Given the description of an element on the screen output the (x, y) to click on. 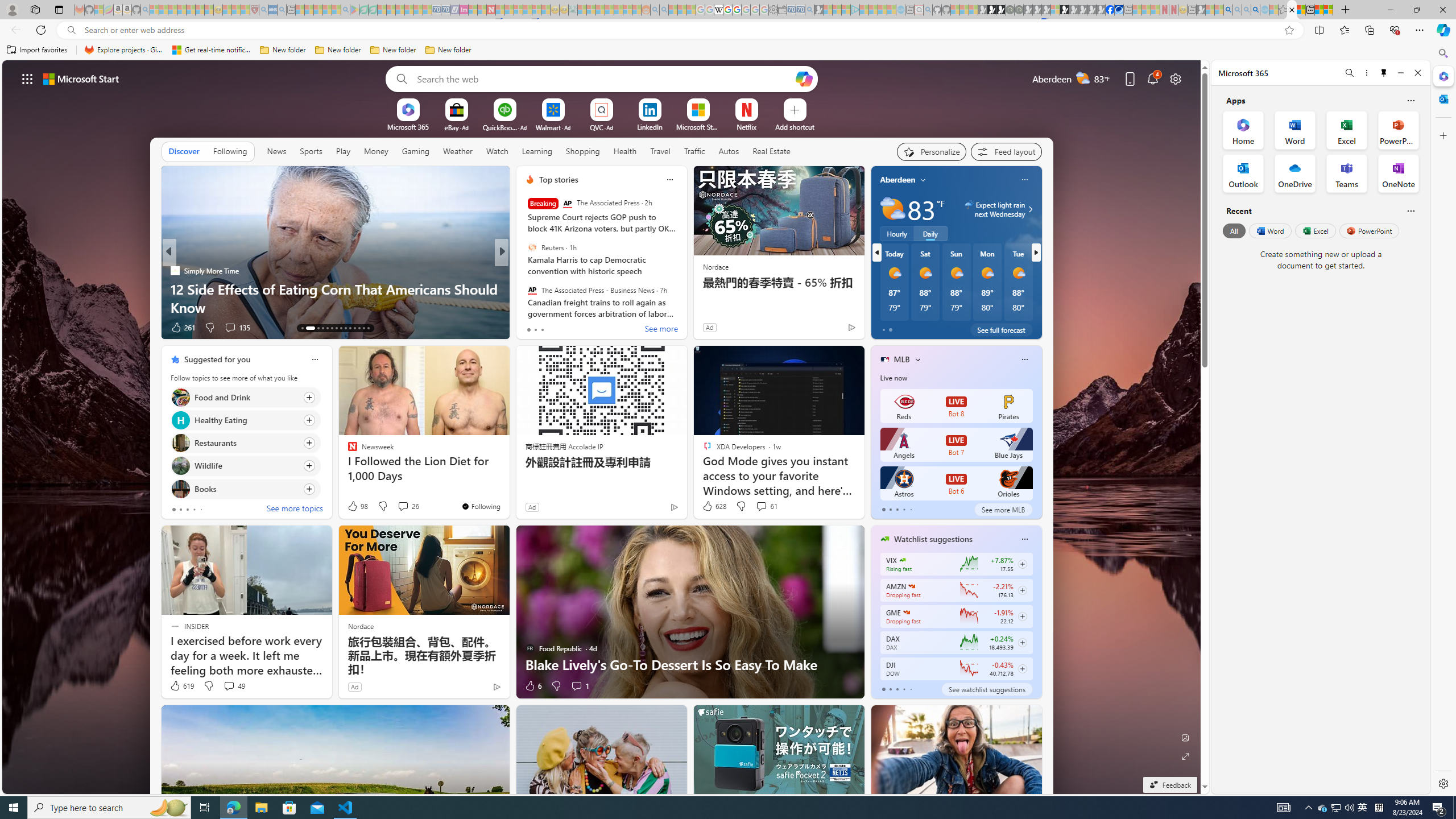
View comments 13 Comment (585, 327)
Page settings (1175, 78)
Recipes - MSN - Sleeping (226, 9)
Trusted Community Engagement and Contributions | Guidelines (499, 9)
Autos (728, 151)
Shopping (582, 151)
